Given the description of an element on the screen output the (x, y) to click on. 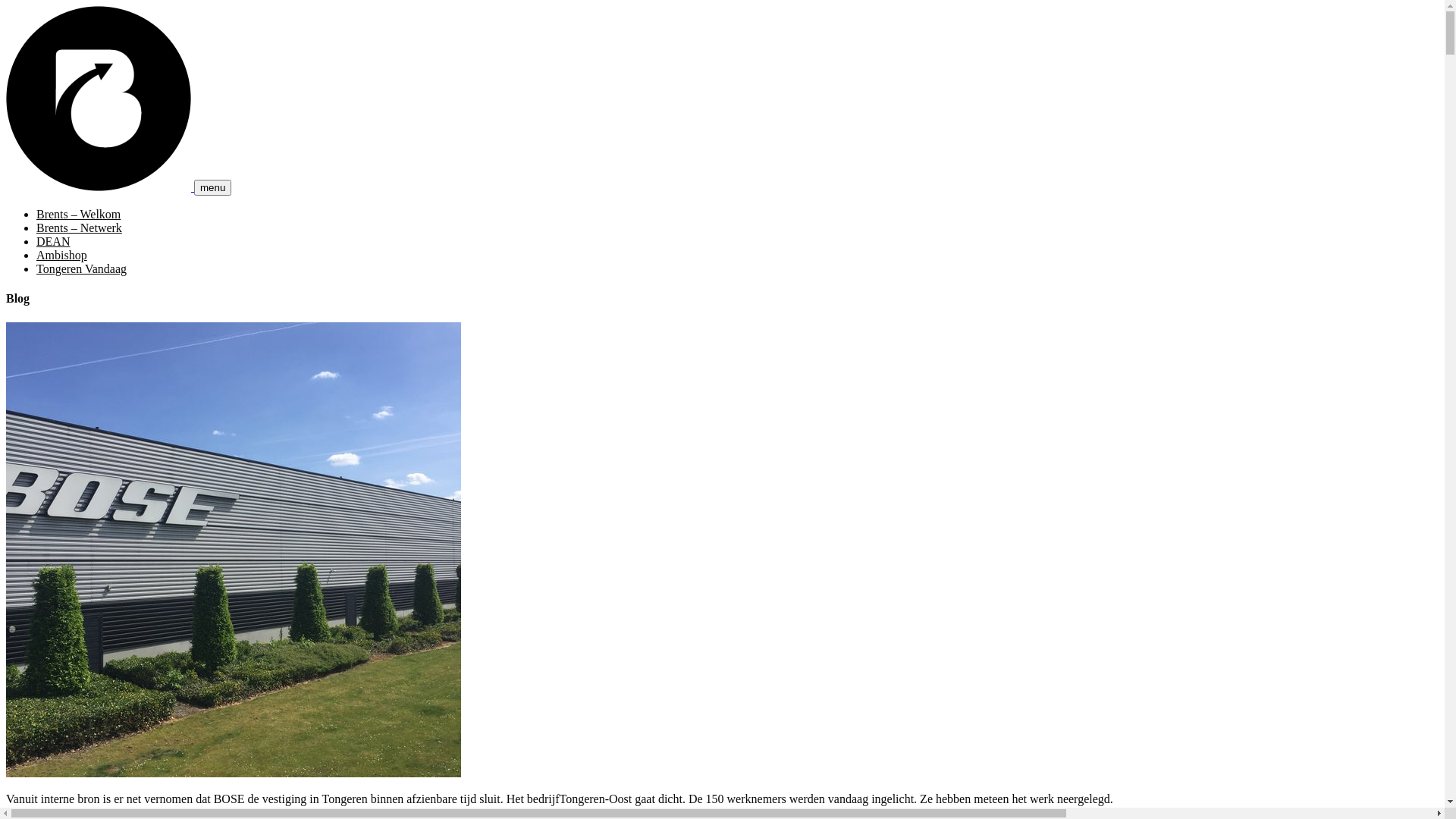
Tongeren Vandaag Element type: text (81, 268)
Ambishop Element type: text (61, 254)
menu Element type: text (212, 187)
DEAN Element type: text (52, 241)
